Given the description of an element on the screen output the (x, y) to click on. 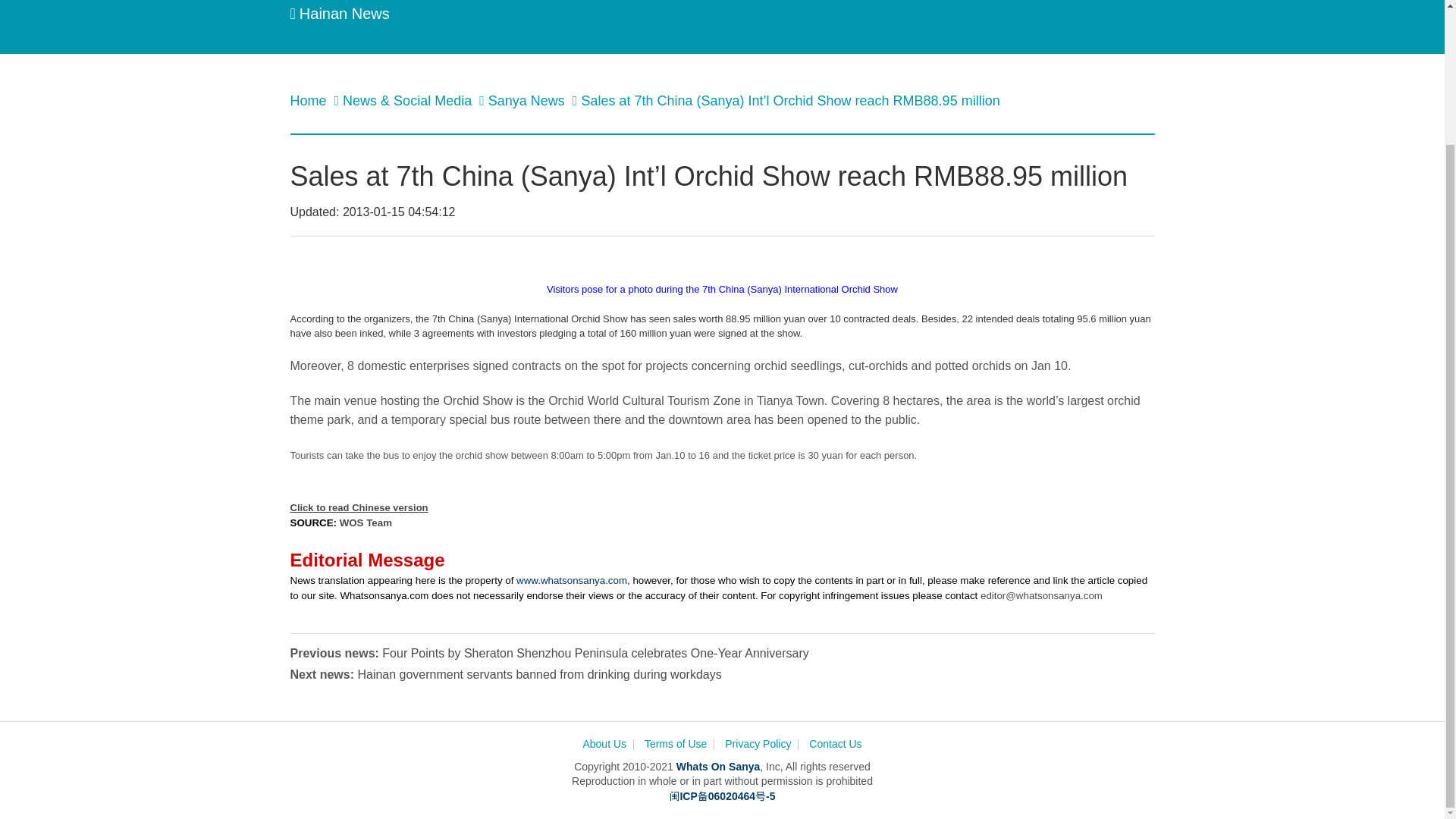
Privacy Policy (757, 744)
Hainan News (338, 13)
Click to read Chinese version (358, 507)
About Us (604, 744)
Whats On Sanya (718, 766)
Terms of Use (675, 744)
www.whatsonsanya.com (571, 580)
Sanya News (528, 100)
